Given the description of an element on the screen output the (x, y) to click on. 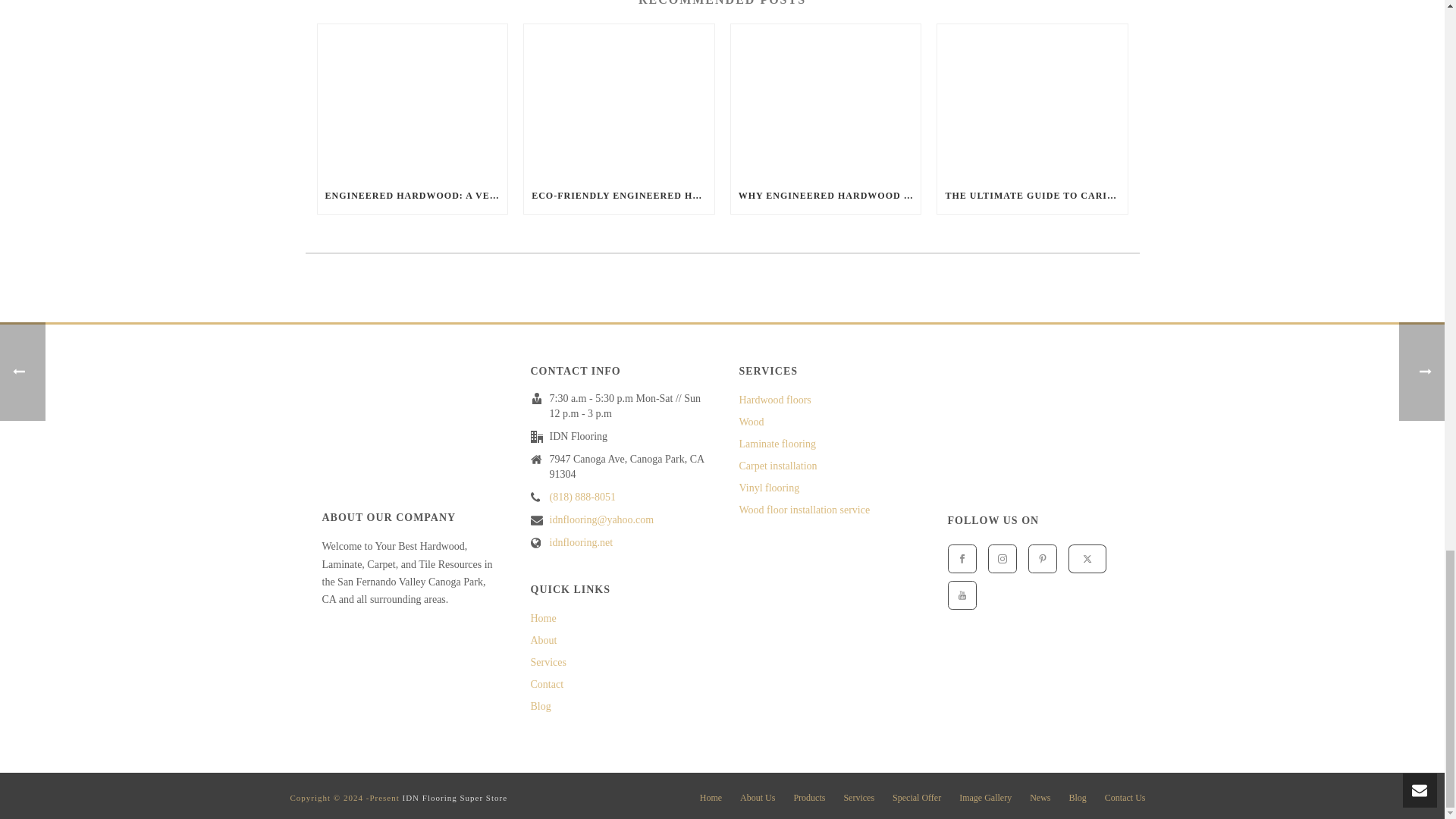
Why Engineered Hardwood is Perfect for High-Traffic Areas (825, 100)
Follow Us on instagram (1001, 558)
Eco-Friendly Engineered Hardwood: Sustainable and Stylish (619, 100)
Follow Us on pinterest (1042, 558)
Follow Us on facebook (961, 558)
